Given the description of an element on the screen output the (x, y) to click on. 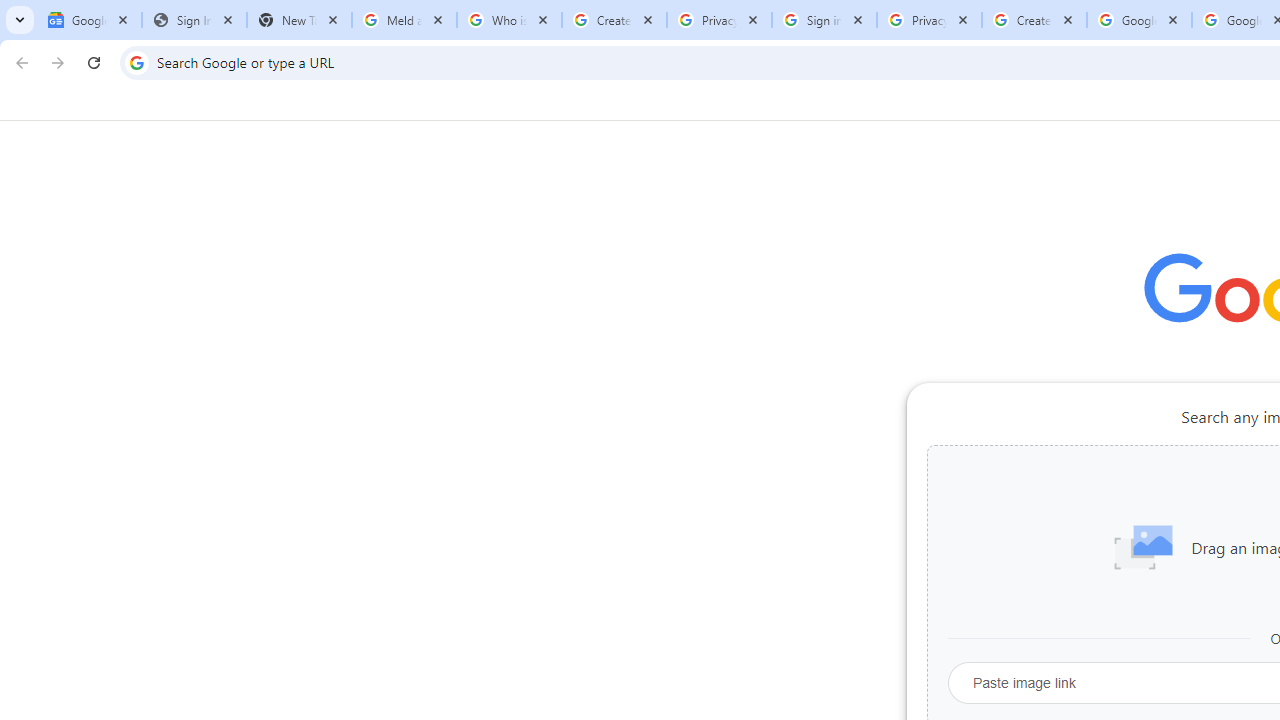
Chrome Web Store (1167, 504)
Who is my administrator? - Google Account Help (509, 20)
More actions for Chrome Web Store shortcut (1208, 466)
